Given the description of an element on the screen output the (x, y) to click on. 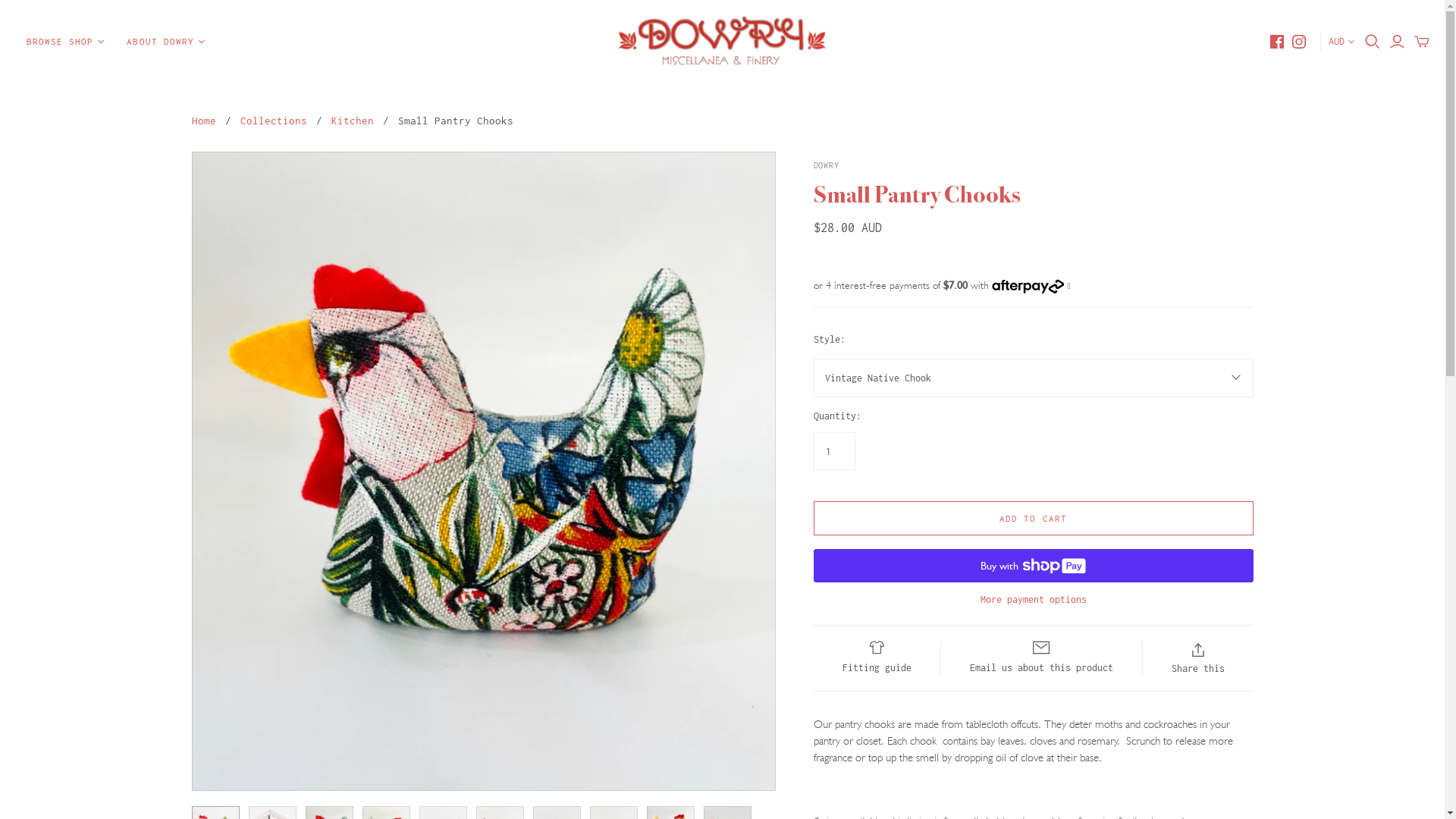
ABOUT DOWRY Element type: text (165, 41)
Email us about this product Element type: text (1041, 657)
Home Element type: text (203, 120)
Share this Element type: text (1197, 658)
Kitchen Element type: text (351, 120)
More payment options Element type: text (1032, 599)
BROWSE SHOP Element type: text (65, 41)
Fitting guide Element type: text (875, 657)
ADD TO CART Element type: text (1032, 518)
Collections Element type: text (272, 120)
